Given the description of an element on the screen output the (x, y) to click on. 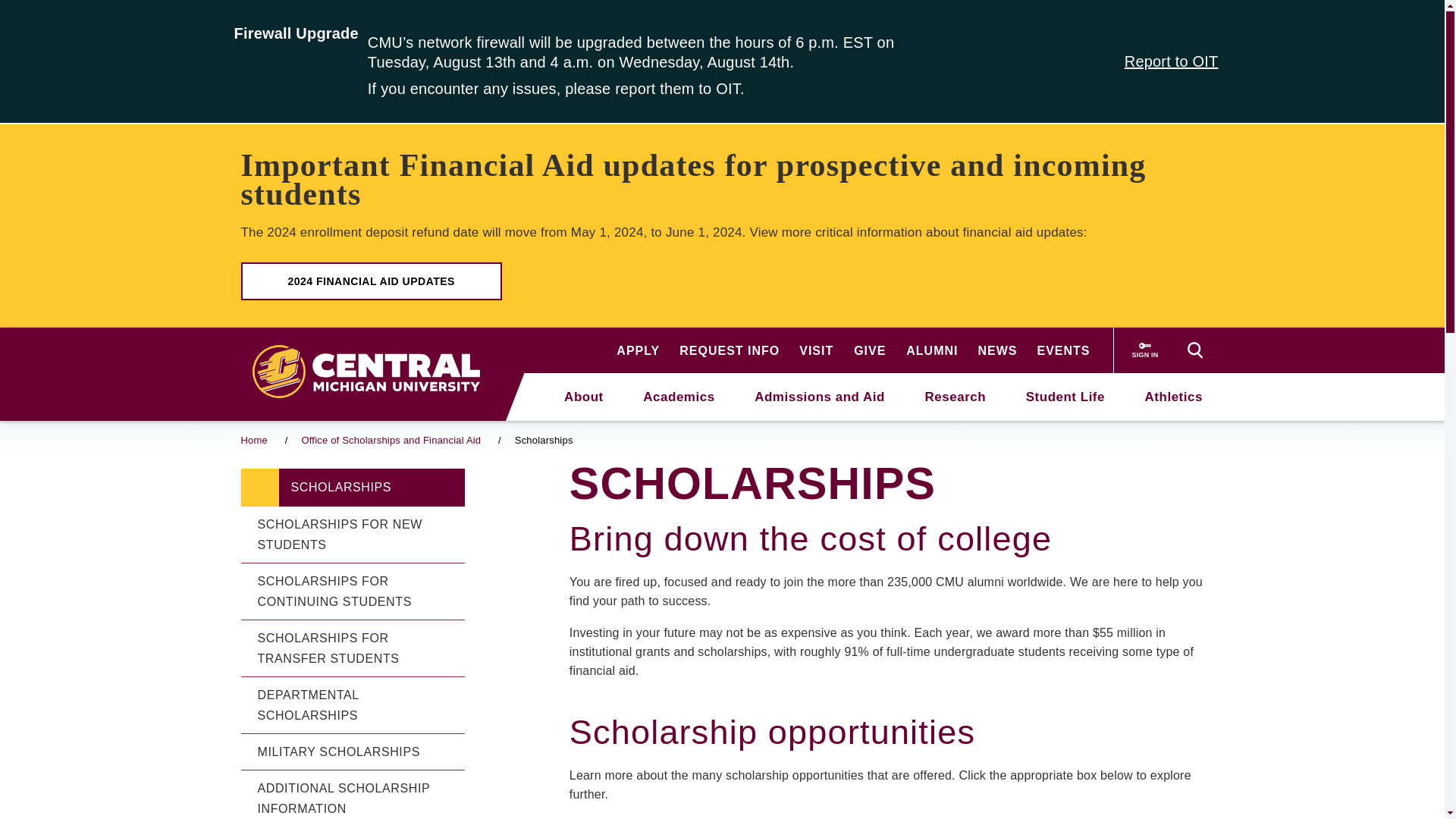
NEWS (996, 350)
APPLY (637, 350)
Athletics (1173, 396)
Departmental Scholarships (352, 705)
Admissions and Aid (819, 396)
Military Scholarships (352, 751)
Report to OIT (1171, 61)
Scholarships for New Students (352, 534)
